Given the description of an element on the screen output the (x, y) to click on. 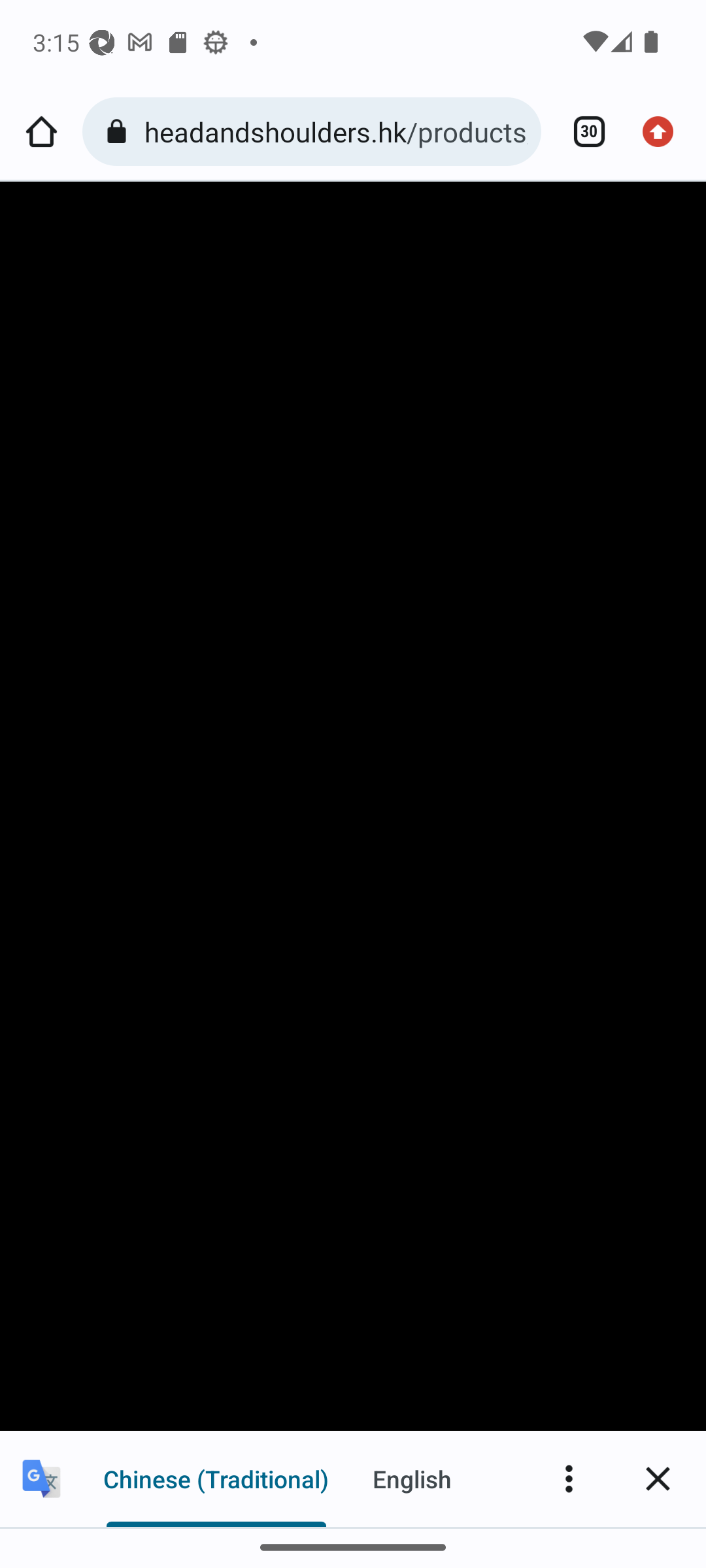
Home (41, 131)
Connection is secure (120, 131)
Switch or close tabs (582, 131)
Update available. More options (664, 131)
English (411, 1478)
More options (568, 1478)
Close (657, 1478)
